Given the description of an element on the screen output the (x, y) to click on. 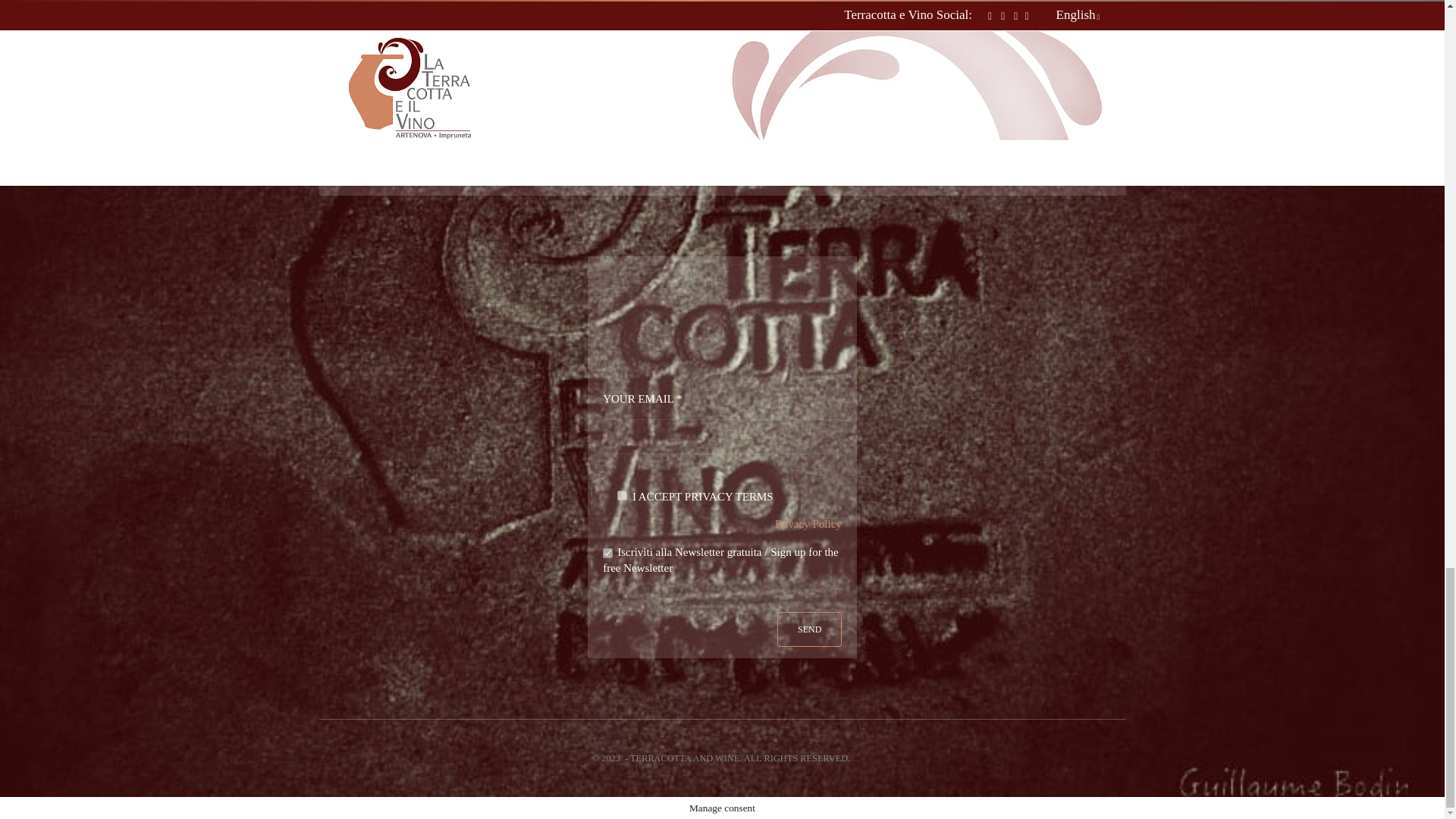
I ACCEPT PRIVACY TERMS (622, 495)
Send (809, 629)
1 (607, 552)
